Given the description of an element on the screen output the (x, y) to click on. 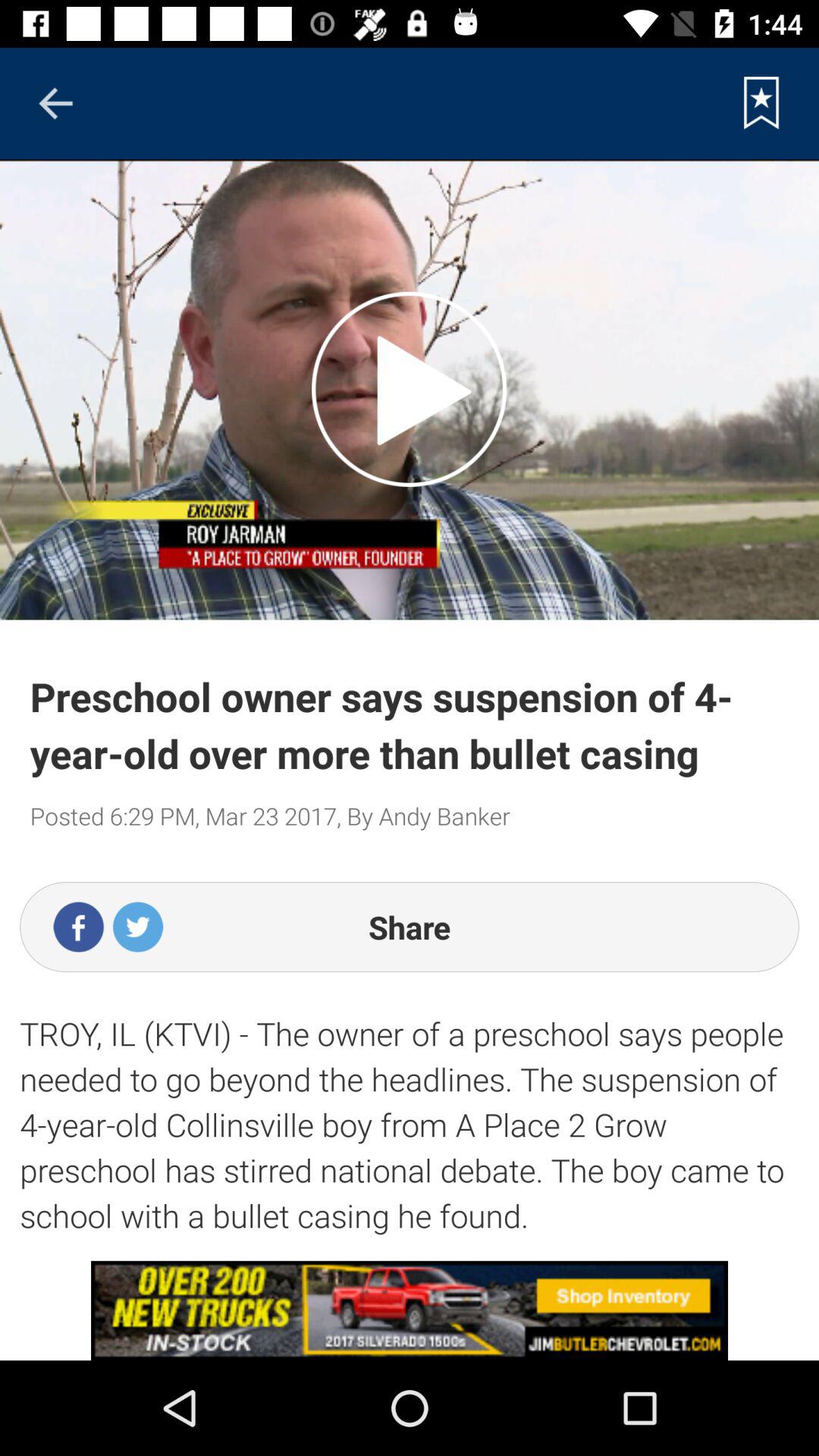
play video (408, 388)
